Given the description of an element on the screen output the (x, y) to click on. 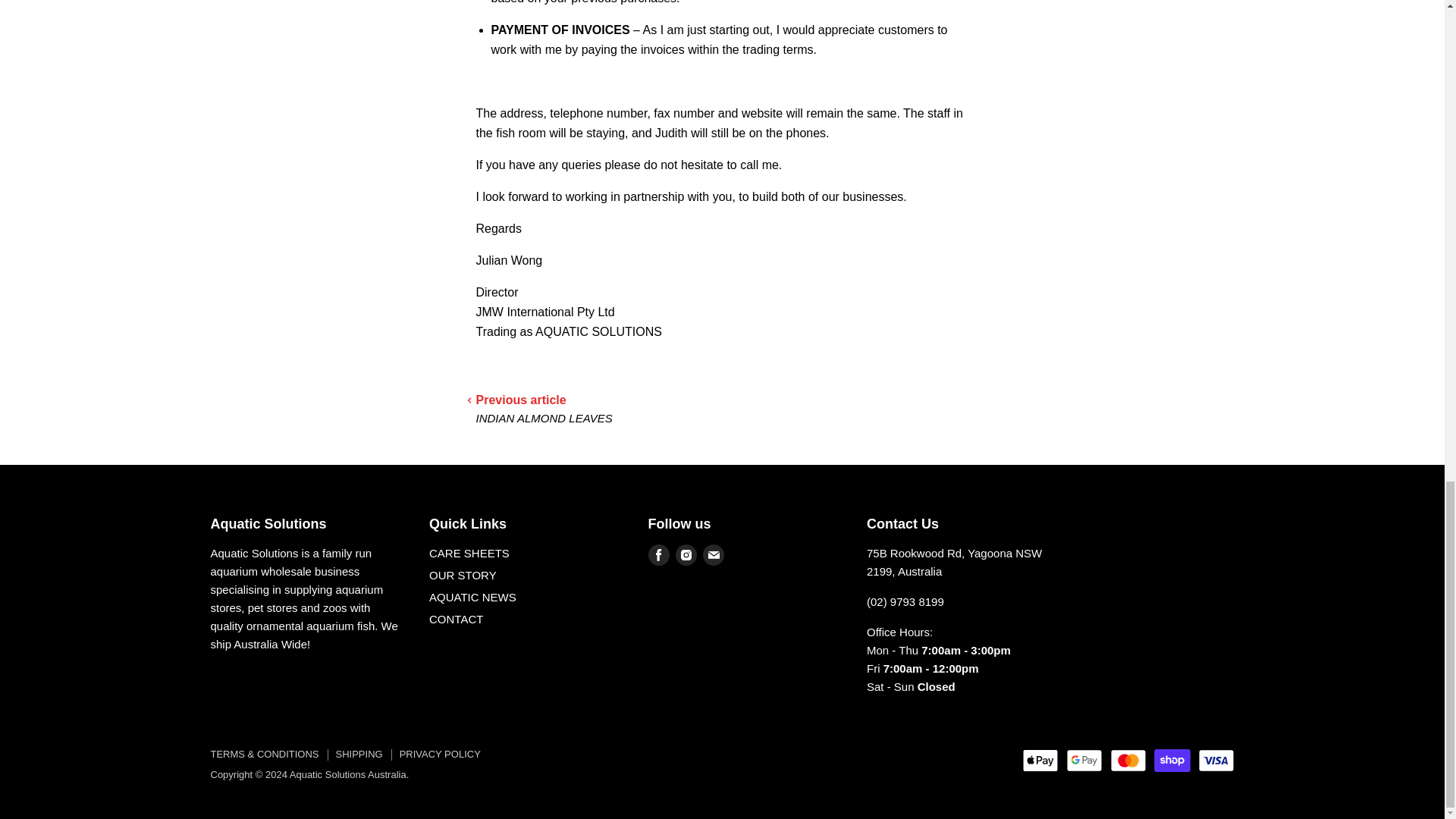
Shop Pay (1172, 760)
Instagram (684, 554)
E-mail (712, 554)
Apple Pay (1040, 760)
Mastercard (1128, 760)
Facebook (658, 554)
Google Pay (1083, 760)
Visa (1216, 760)
